Given the description of an element on the screen output the (x, y) to click on. 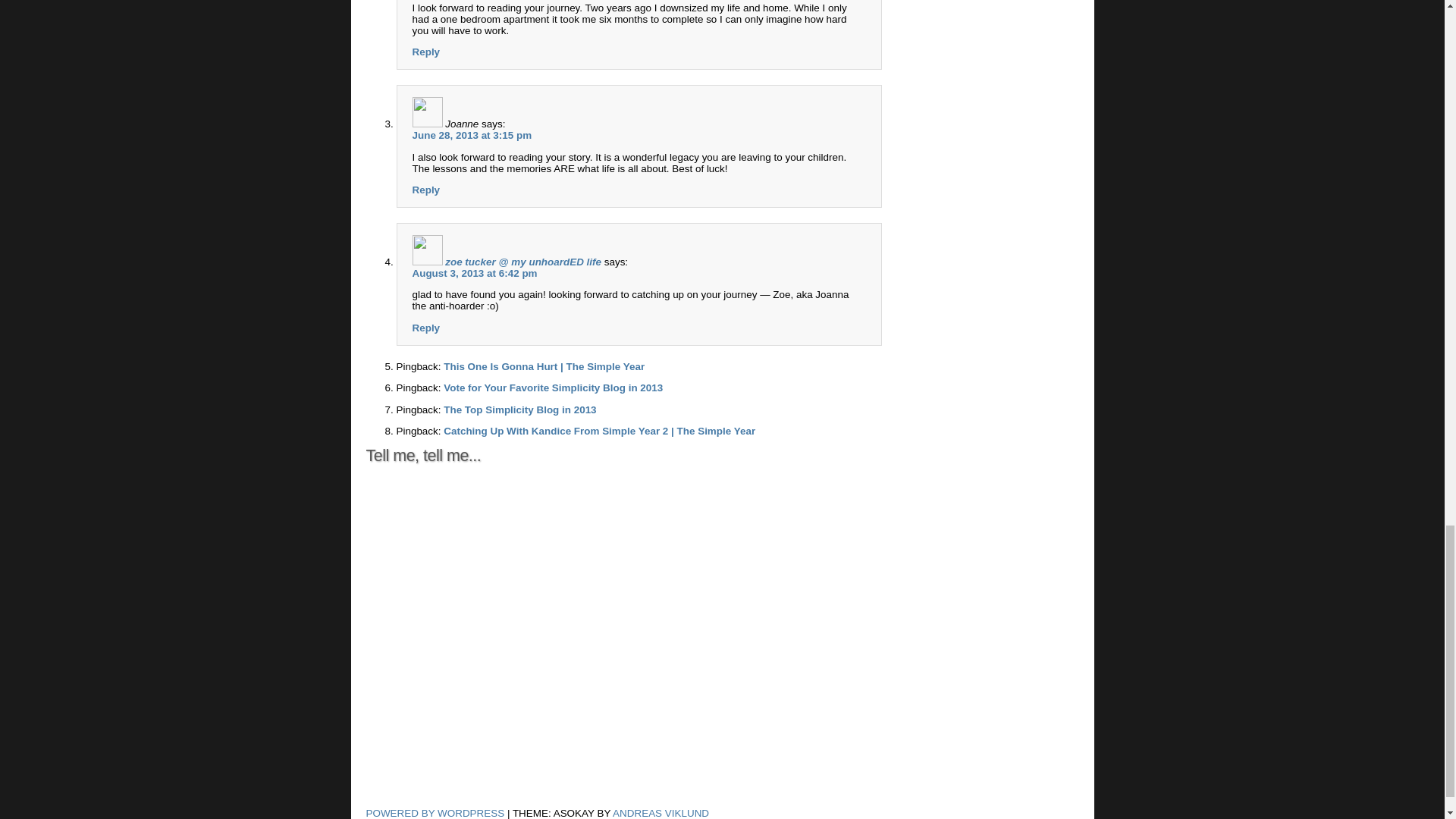
Reply (426, 327)
June 28, 2013 at 3:15 pm (472, 134)
Reply (426, 51)
Reply (426, 189)
August 3, 2013 at 6:42 pm (474, 273)
The Top Simplicity Blog in 2013 (519, 409)
Vote for Your Favorite Simplicity Blog in 2013 (553, 387)
